Given the description of an element on the screen output the (x, y) to click on. 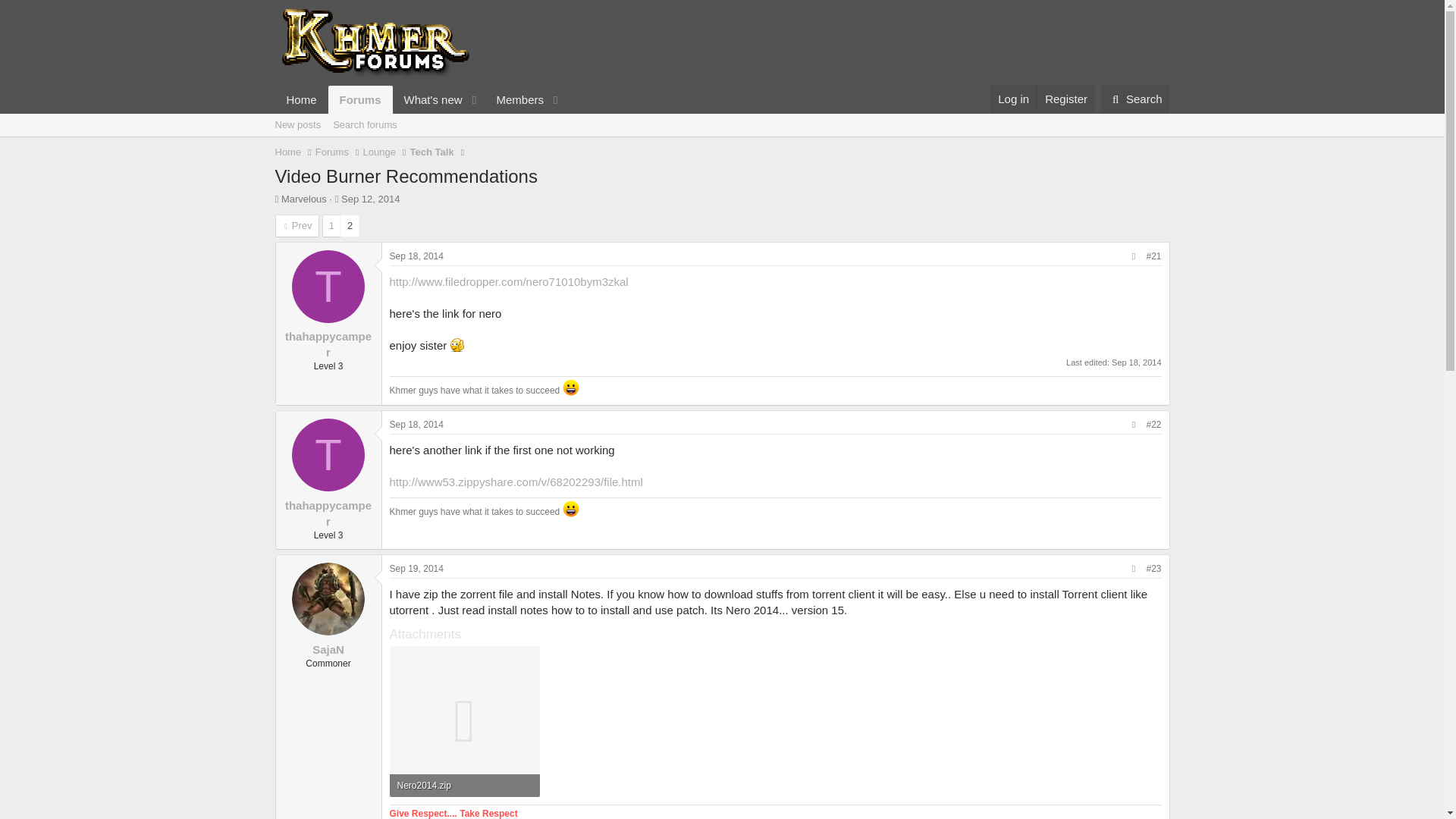
Log in (1013, 99)
Marvelous (303, 198)
Tech Talk (432, 151)
Sep 18, 2014 at 11:40 AM (417, 255)
Sep 18, 2014 at 11:45 AM (1136, 361)
Search forums (364, 124)
Members (514, 99)
Search (1135, 99)
Lounge (379, 151)
Sep 12, 2014 (369, 198)
Big Grin    :D (570, 387)
Sep 18, 2014 at 12:14 PM (417, 424)
Prev (296, 225)
2 (349, 225)
1 (331, 225)
